Given the description of an element on the screen output the (x, y) to click on. 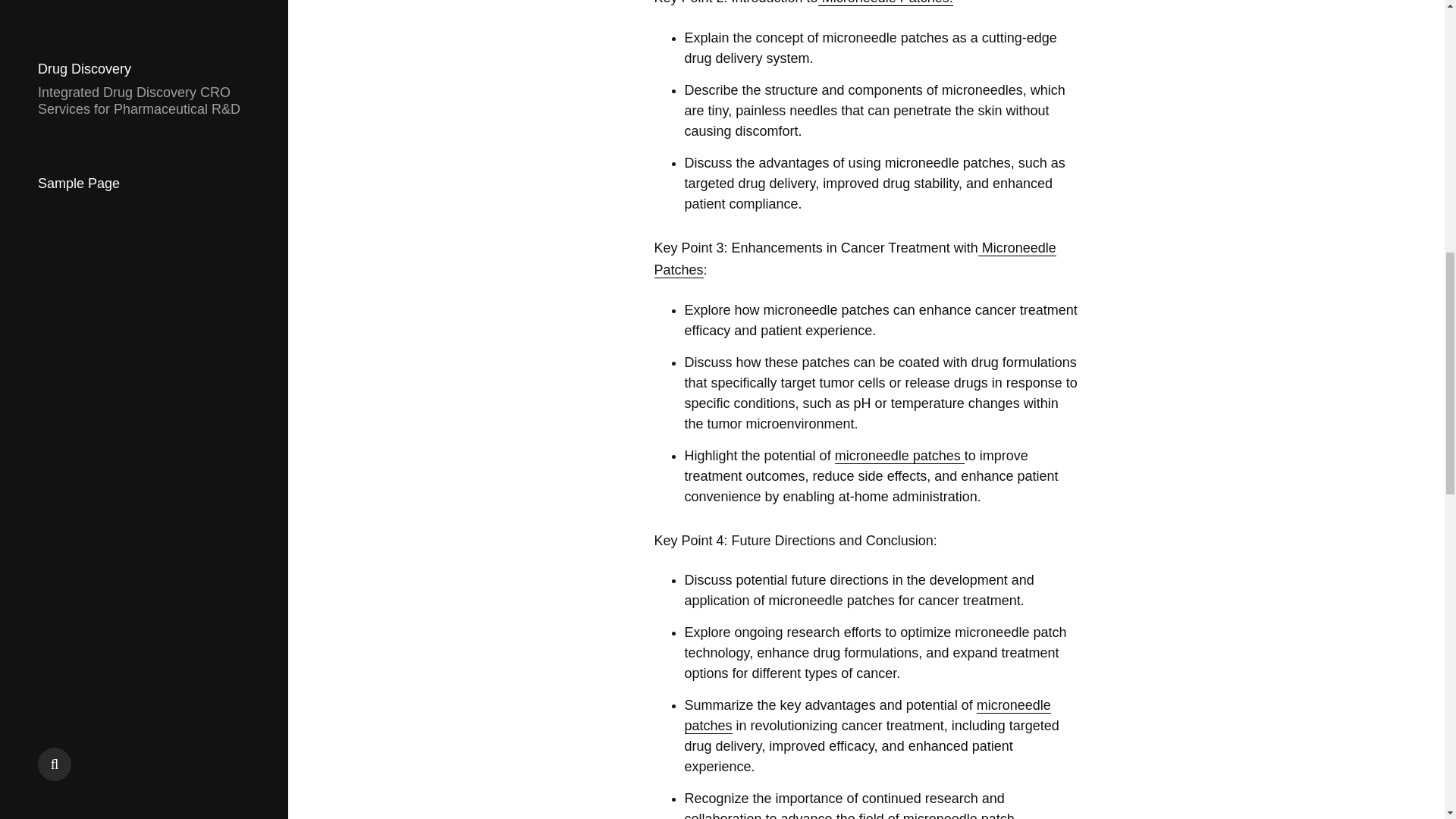
microneedle patches (866, 715)
microneedle patches (898, 455)
Microneedle Patches (854, 259)
Microneedle Patches: (885, 2)
